Given the description of an element on the screen output the (x, y) to click on. 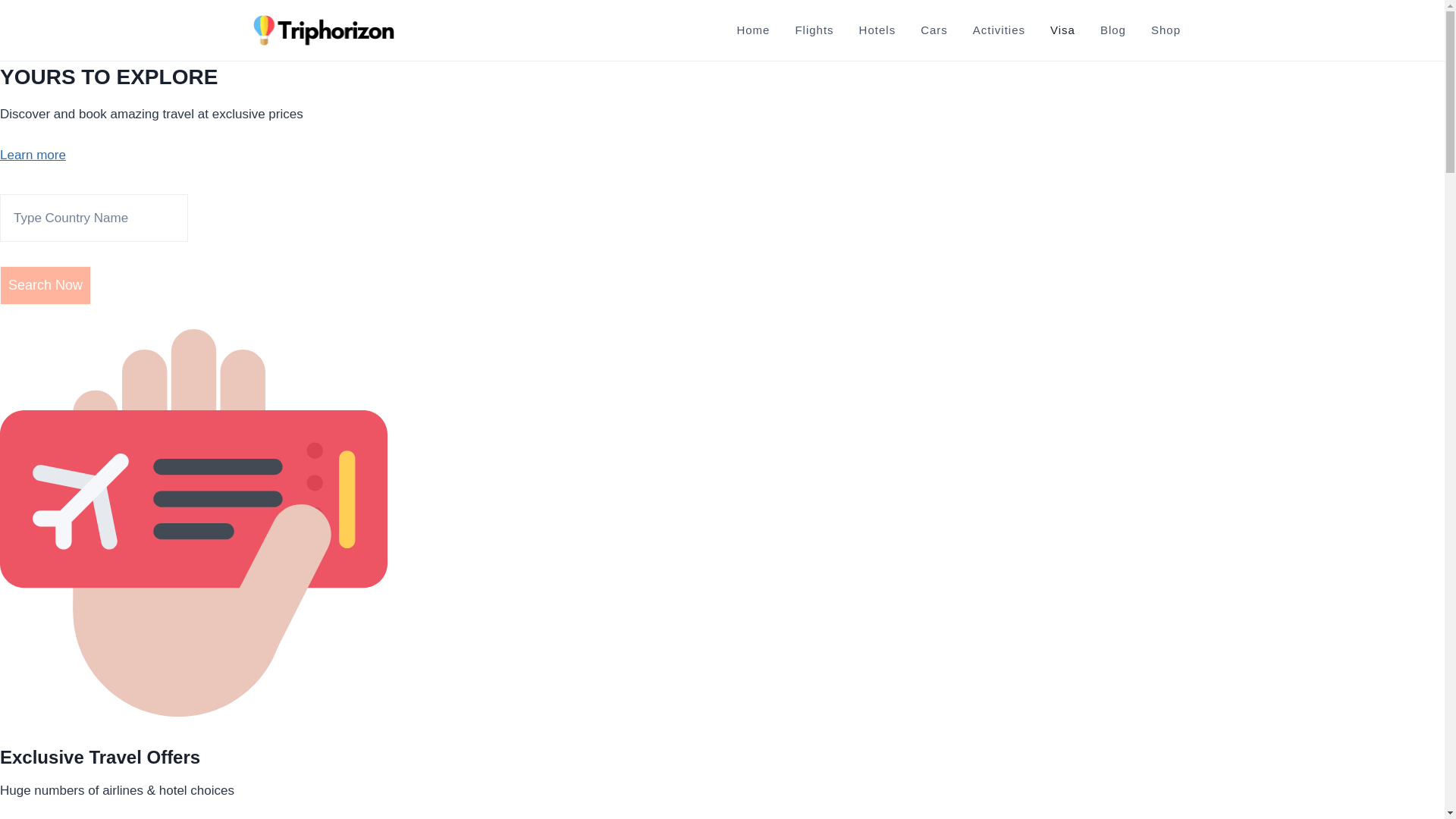
Search Now (45, 285)
Learn more (32, 165)
Activities (997, 29)
Search Now (45, 285)
Hotels (876, 29)
Visa (1061, 29)
Home (753, 29)
Blog (1112, 29)
Cars (934, 29)
Shop (1165, 29)
